Given the description of an element on the screen output the (x, y) to click on. 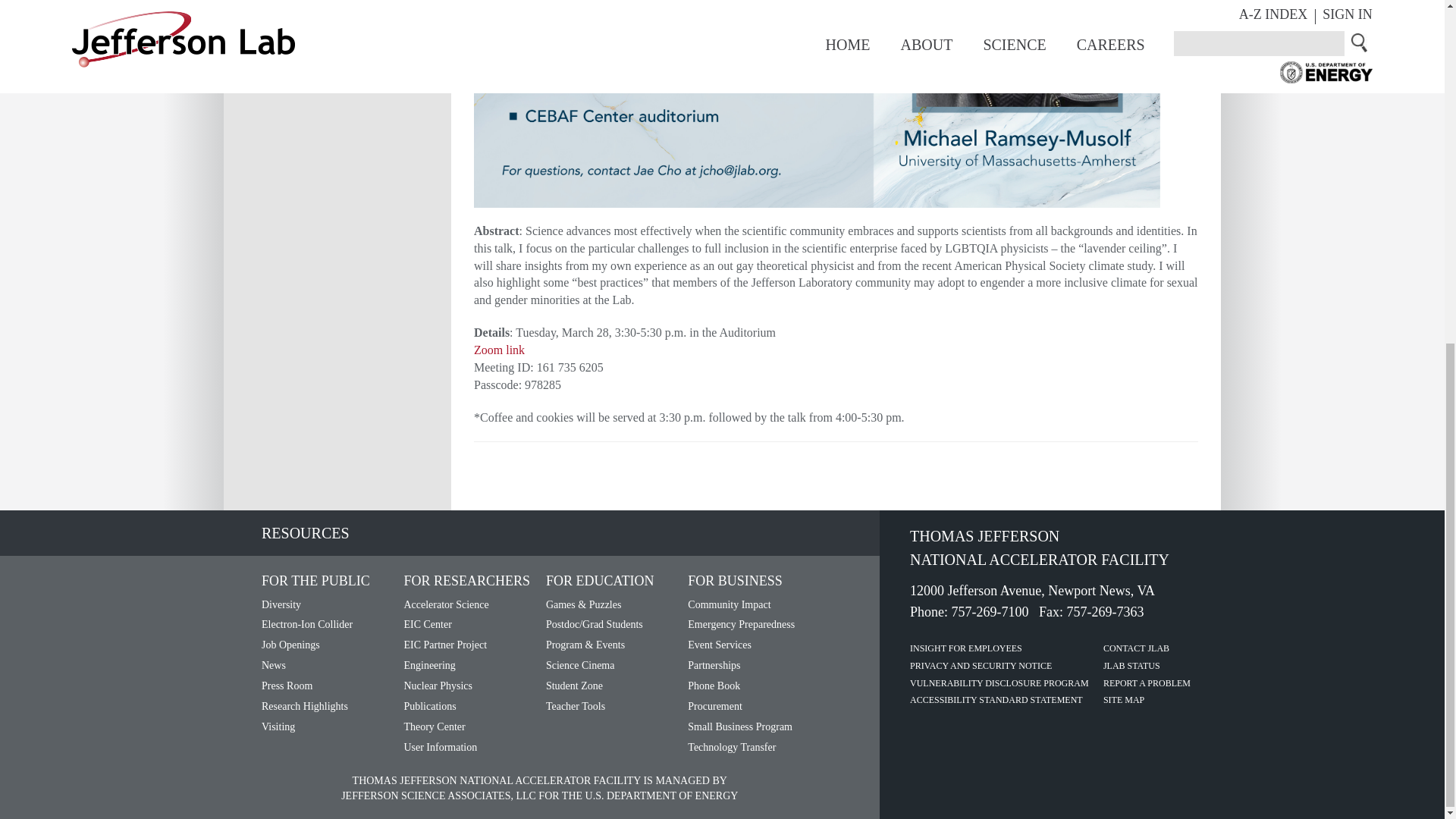
Education (599, 581)
SITE MAP (1123, 699)
ACCESSIBILITY STANDARD STATEMENT (996, 699)
INSIGHT FOR EMPLOYEES (966, 647)
Zoom link (499, 349)
CONTACT JLAB (1136, 647)
Job Openings (291, 644)
PRIVACY AND SECURITY NOTICE (980, 665)
Electron-Ion Collider (307, 624)
Research Highlights (304, 706)
FOR THE PUBLIC (315, 581)
Diversity (281, 604)
News (273, 665)
FOR RESEARCHERS (466, 581)
JLAB STATUS (1131, 665)
